Given the description of an element on the screen output the (x, y) to click on. 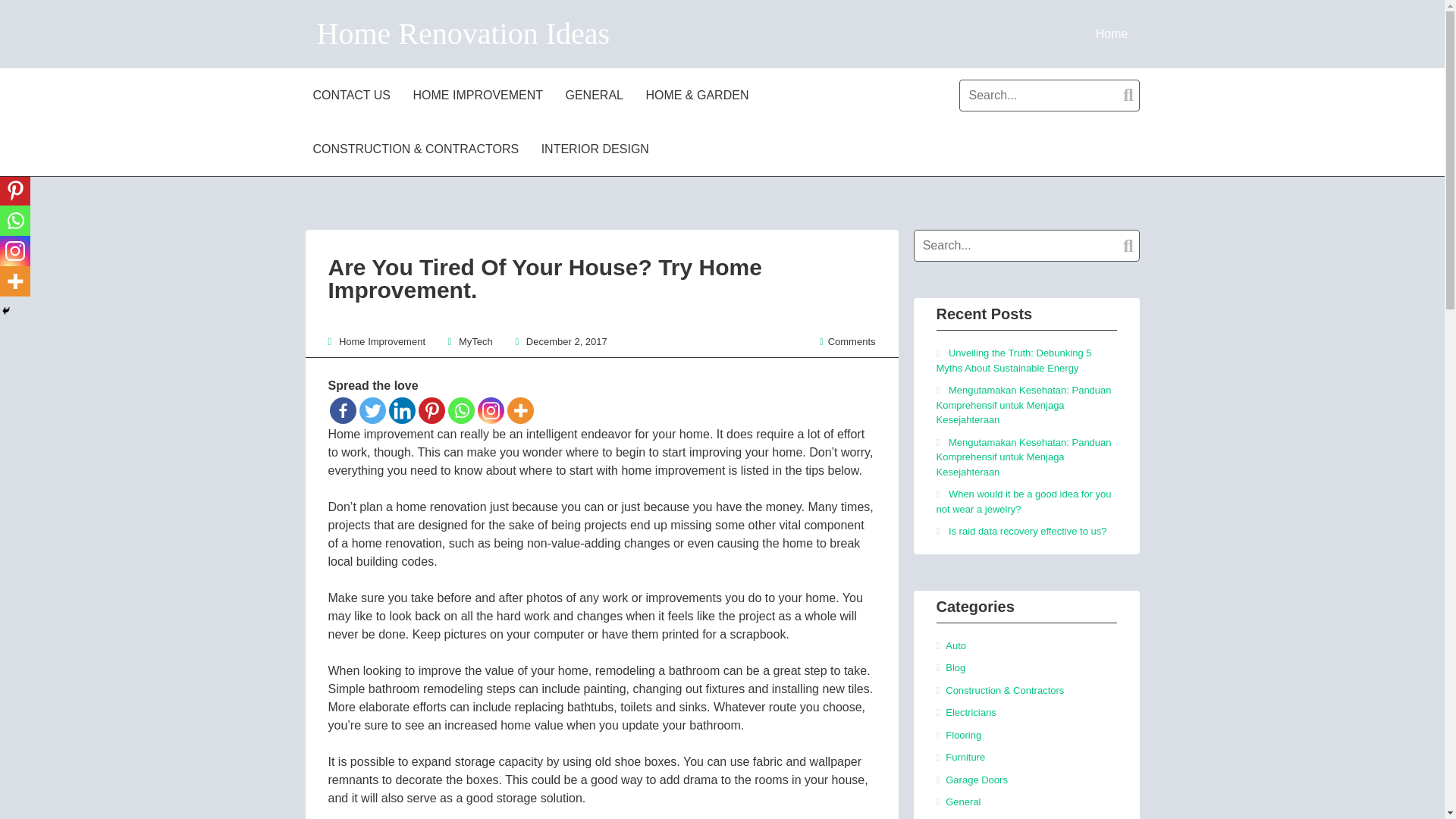
Pinterest (15, 190)
Facebook (15, 99)
Whatsapp (460, 410)
Home Renovation Ideas (463, 33)
Blog (954, 667)
When would it be a good idea for you not wear a jewelry? (1023, 501)
Linkedin (15, 159)
Is raid data recovery effective to us? (1027, 531)
